Given the description of an element on the screen output the (x, y) to click on. 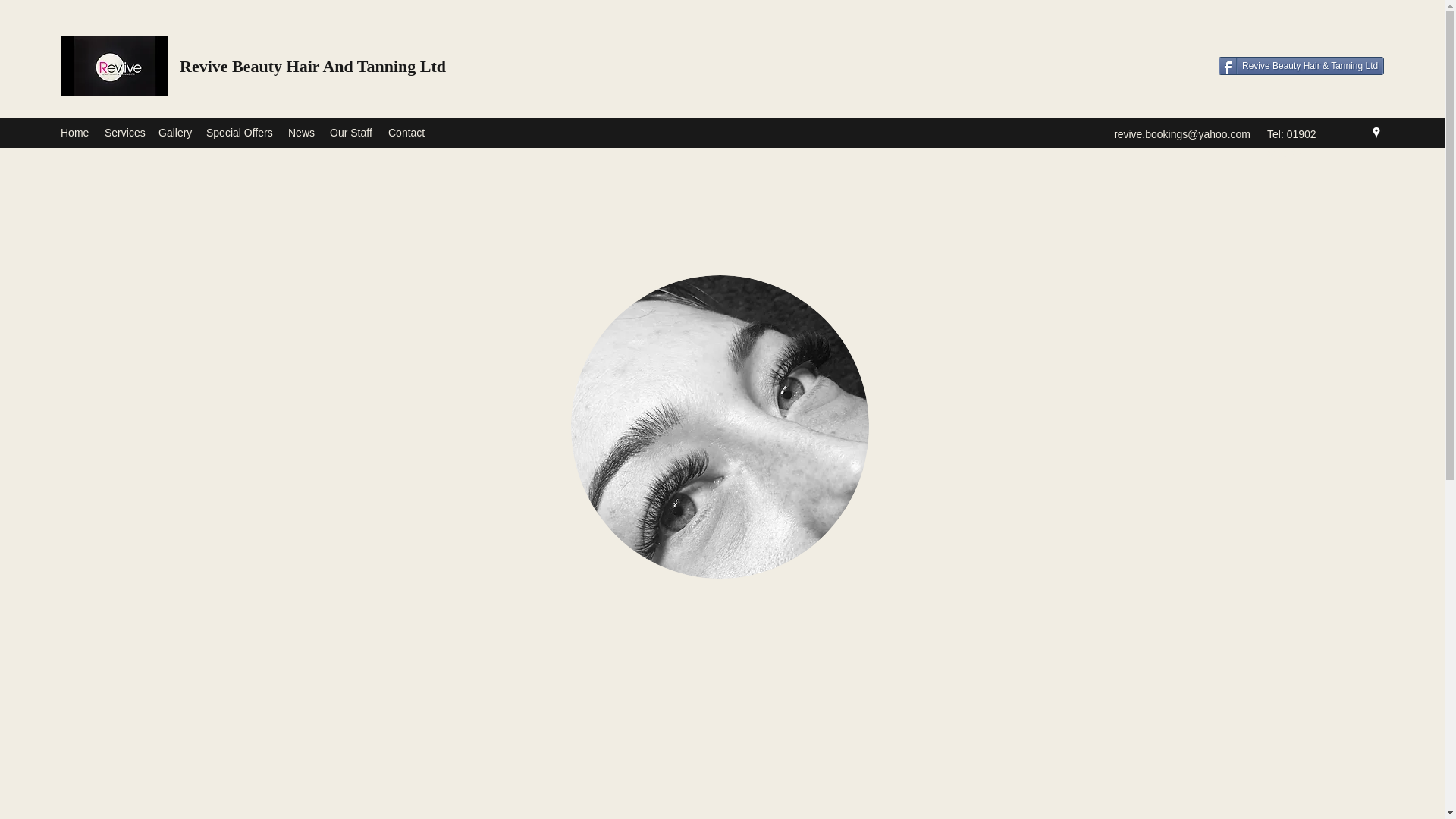
Gallery (174, 132)
Special Offers (239, 132)
Services (124, 132)
Home (74, 132)
Revive Beauty Hair And Tanning Ltd (312, 66)
Facebook Like (1354, 85)
Contact (406, 132)
News (301, 132)
Our Staff (350, 132)
